Given the description of an element on the screen output the (x, y) to click on. 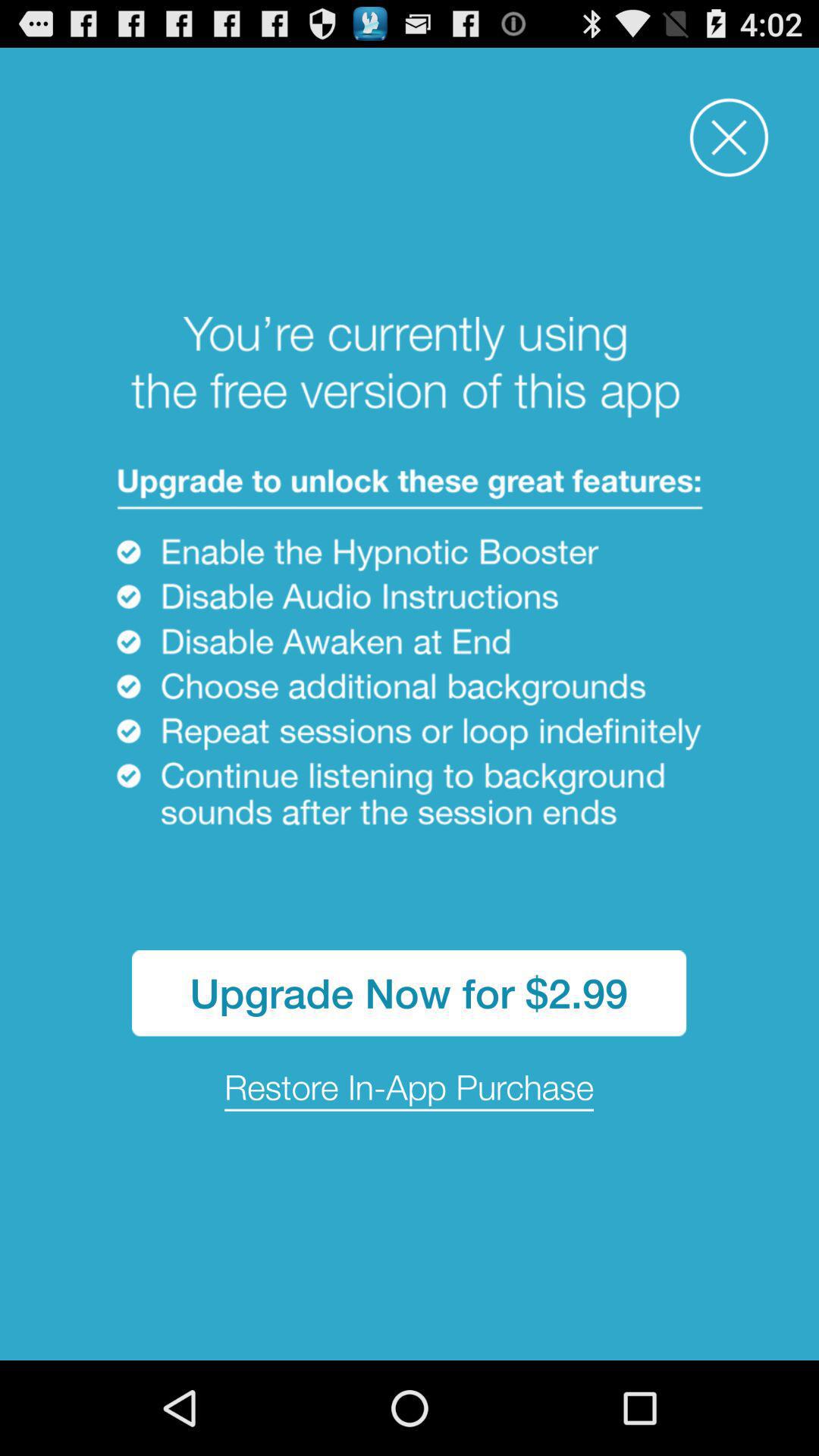
tap icon at the top right corner (728, 137)
